Given the description of an element on the screen output the (x, y) to click on. 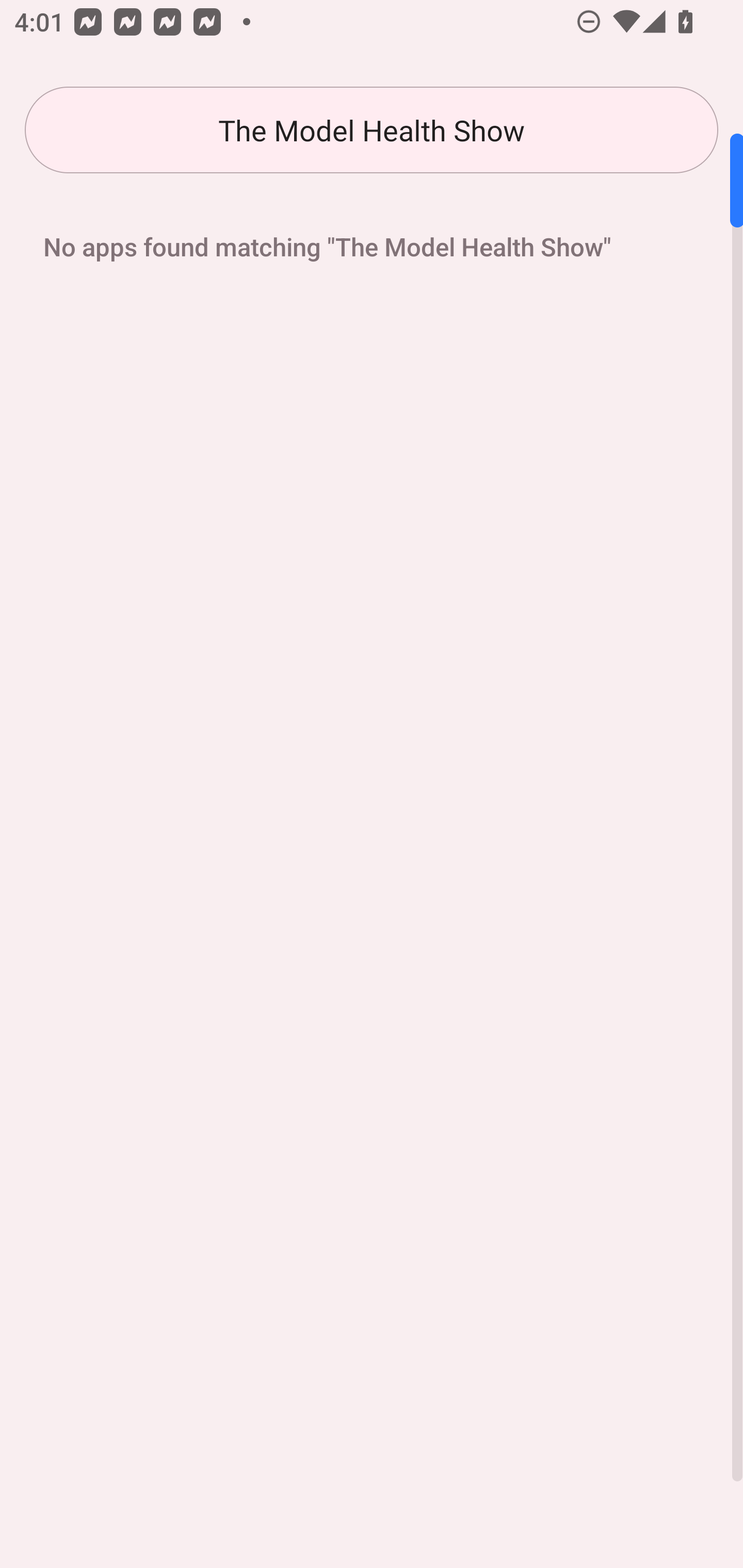
The Model Health Show (371, 130)
